Given the description of an element on the screen output the (x, y) to click on. 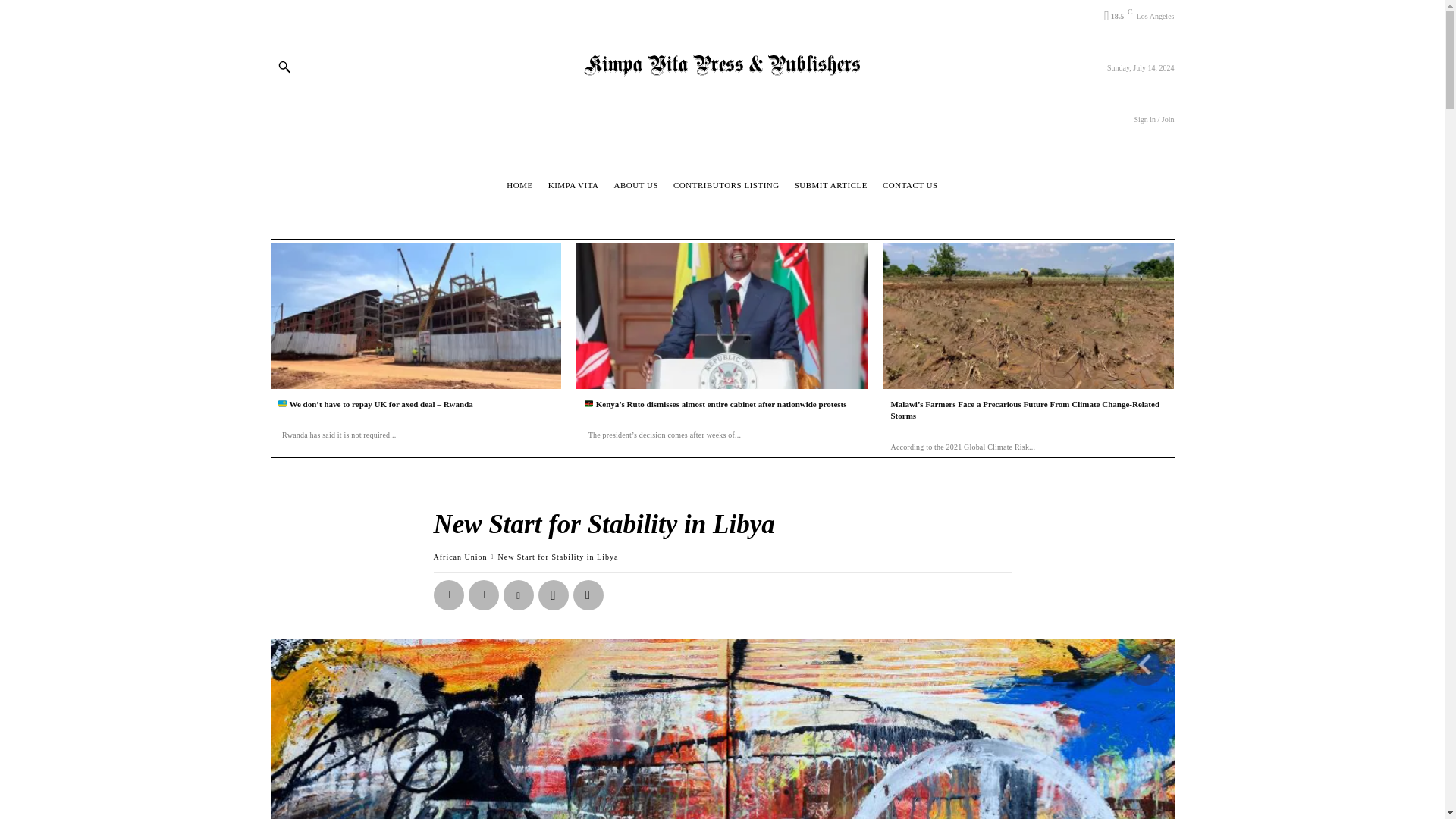
SUBMIT ARTICLE (830, 185)
Pinterest (518, 594)
African Union (460, 556)
HOME (518, 185)
KIMPA VITA (573, 185)
Twitter (483, 594)
ABOUT US (636, 185)
CONTRIBUTORS LISTING (726, 185)
Facebook (448, 594)
CONTACT US (910, 185)
WhatsApp (553, 594)
View all posts in African Union (460, 556)
